Given the description of an element on the screen output the (x, y) to click on. 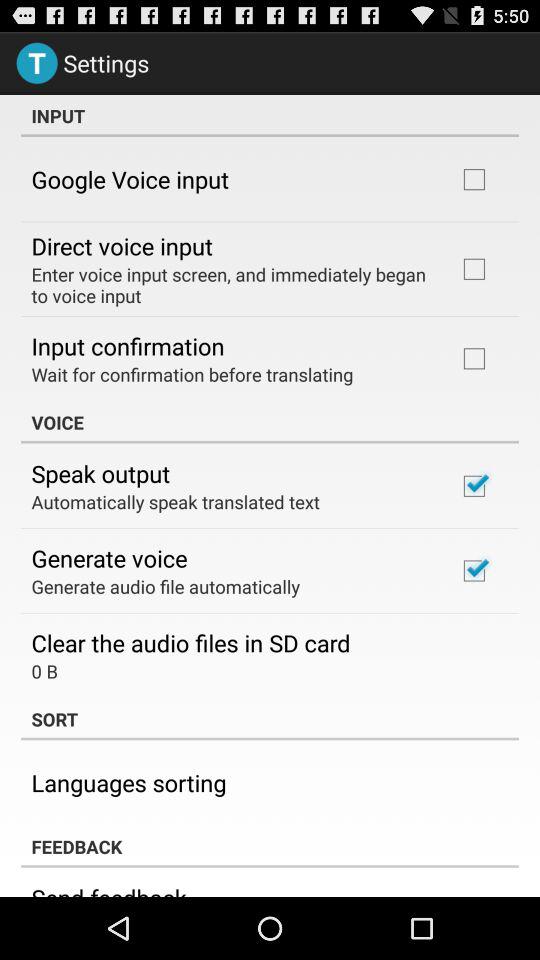
flip until the wait for confirmation item (192, 373)
